Given the description of an element on the screen output the (x, y) to click on. 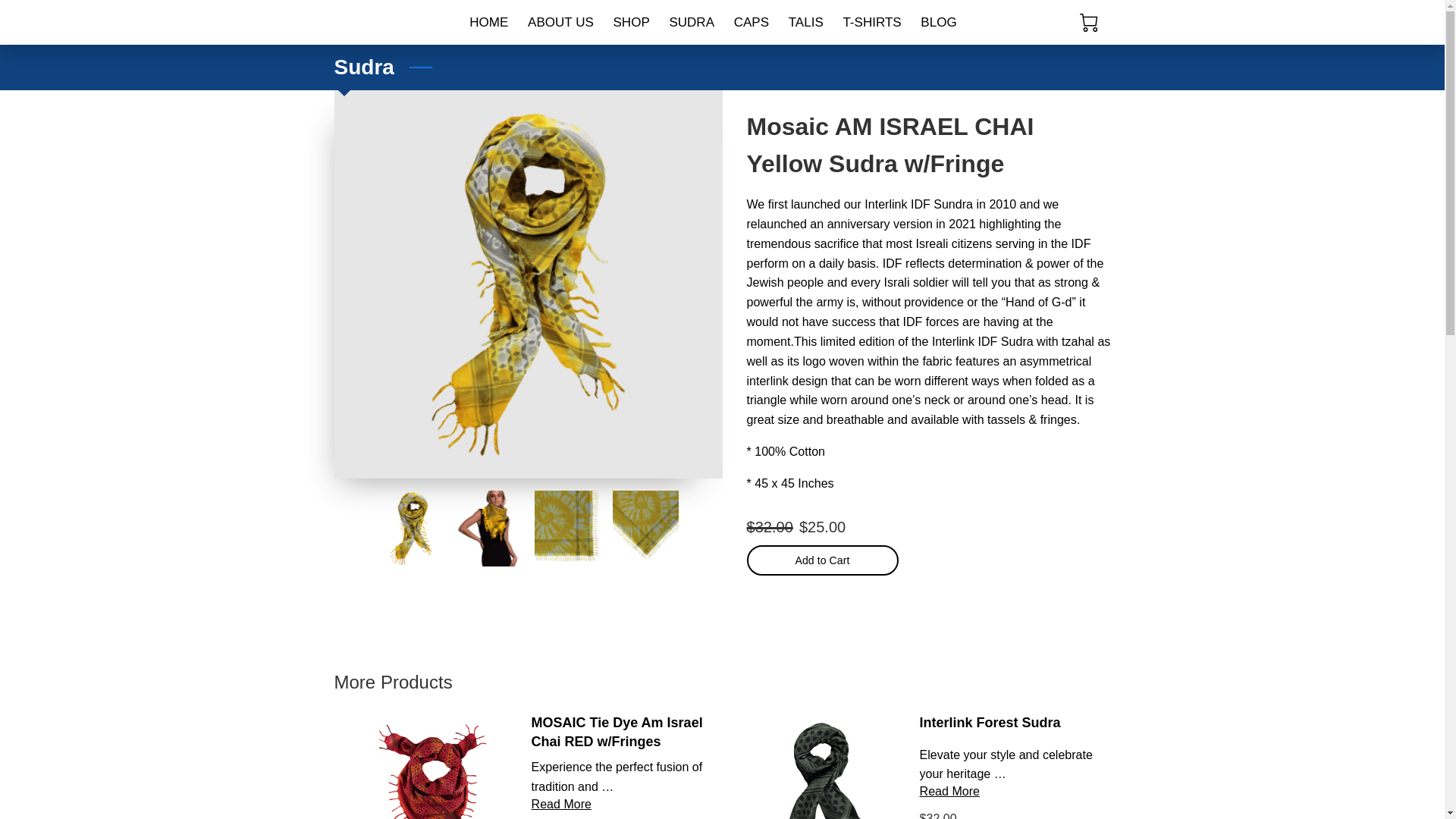
TALIS (805, 22)
SHOP (631, 22)
BLOG (938, 22)
Read More (561, 803)
0 (1088, 22)
T-SHIRTS (871, 22)
SUDRA (691, 22)
Interlink Forest Sudra (990, 722)
CAPS (750, 22)
Add to Cart (821, 560)
Read More (949, 790)
HOME (489, 22)
ABOUT US (560, 22)
